Given the description of an element on the screen output the (x, y) to click on. 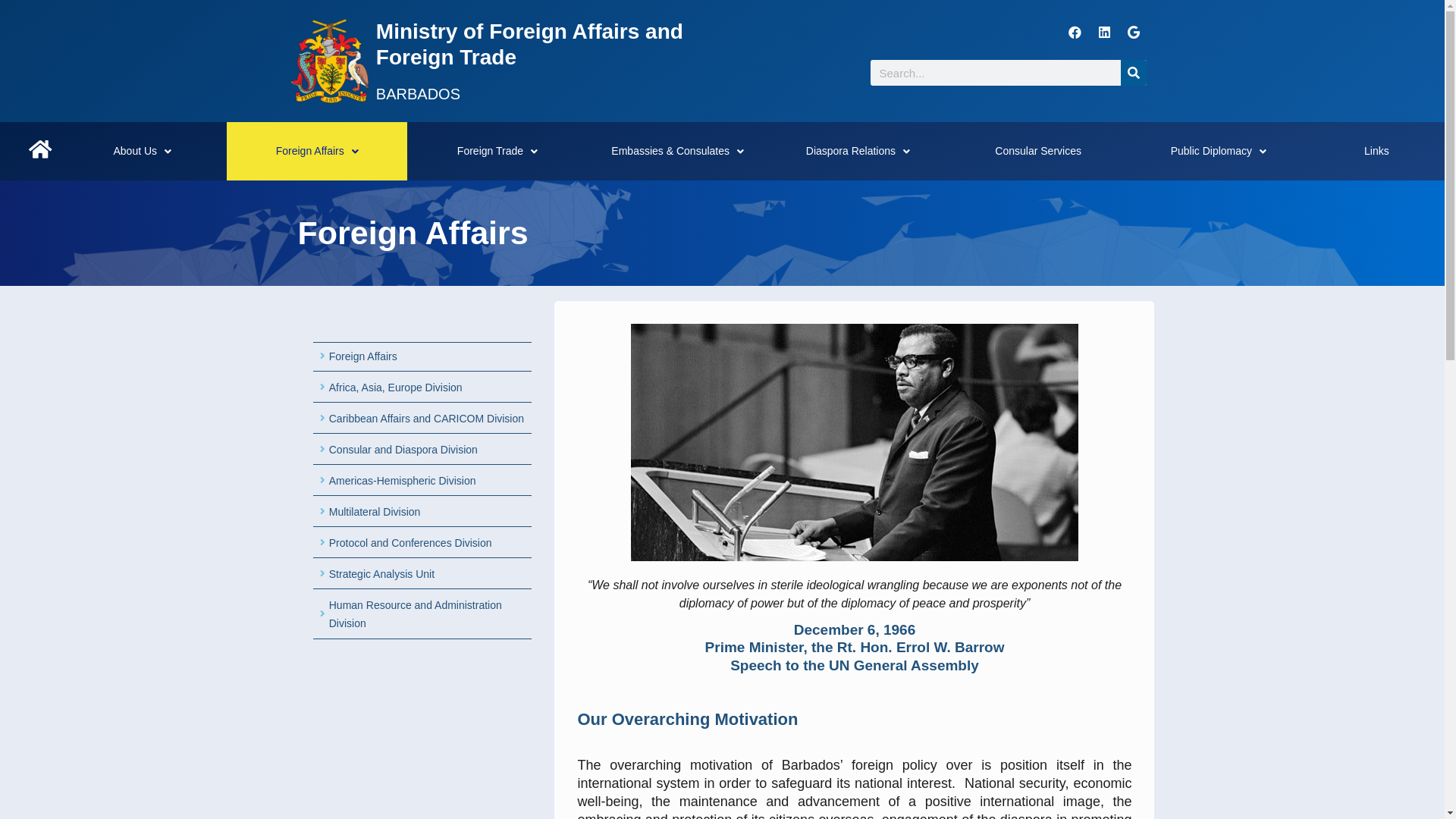
Caribbean Affairs and CARICOM Division Element type: text (421, 418)
Foreign Affairs Element type: text (316, 151)
Africa, Asia, Europe Division Element type: text (421, 387)
BARBADOS Element type: text (418, 93)
Public Diplomacy Element type: text (1218, 151)
Embassies & Consulates Element type: text (677, 151)
Consular and Diaspora Division Element type: text (421, 449)
Diaspora Relations Element type: text (858, 151)
Facebook Element type: text (1074, 31)
Foreign Affairs Element type: text (421, 356)
Americas-Hemispheric Division Element type: text (421, 480)
Consular Services Element type: text (1037, 151)
Human Resource and Administration Division Element type: text (421, 614)
Foreign Trade Element type: text (497, 151)
Google Element type: text (1133, 31)
Linkedin Element type: text (1104, 31)
Ministry of Foreign Affairs and Foreign Trade Element type: text (529, 44)
Multilateral Division Element type: text (421, 511)
Strategic Analysis Unit Element type: text (421, 573)
About Us Element type: text (141, 151)
Search Element type: text (1133, 72)
Protocol and Conferences Division Element type: text (421, 542)
Links Element type: text (1376, 151)
